Given the description of an element on the screen output the (x, y) to click on. 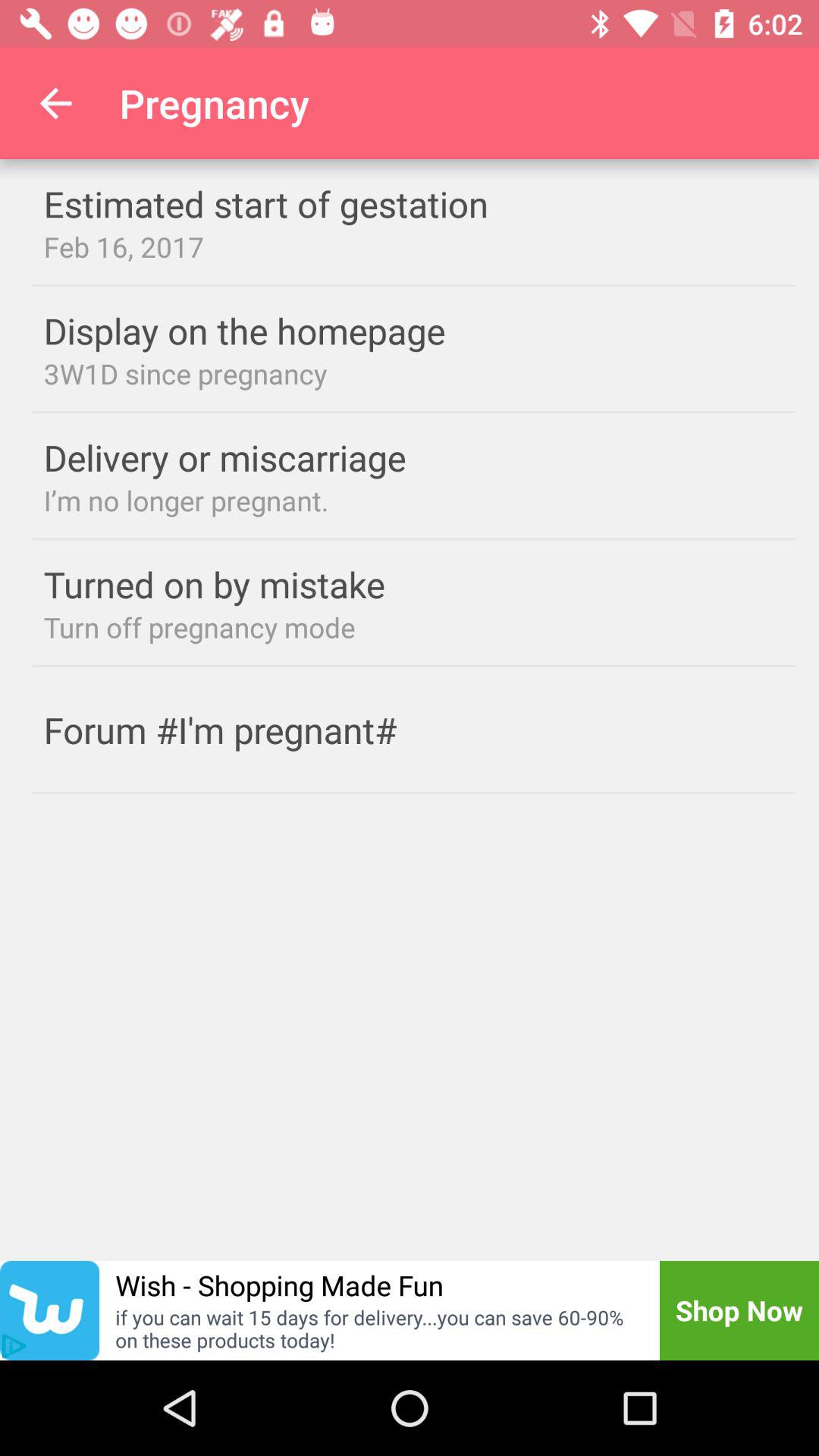
turn on icon next to pregnancy (55, 103)
